Given the description of an element on the screen output the (x, y) to click on. 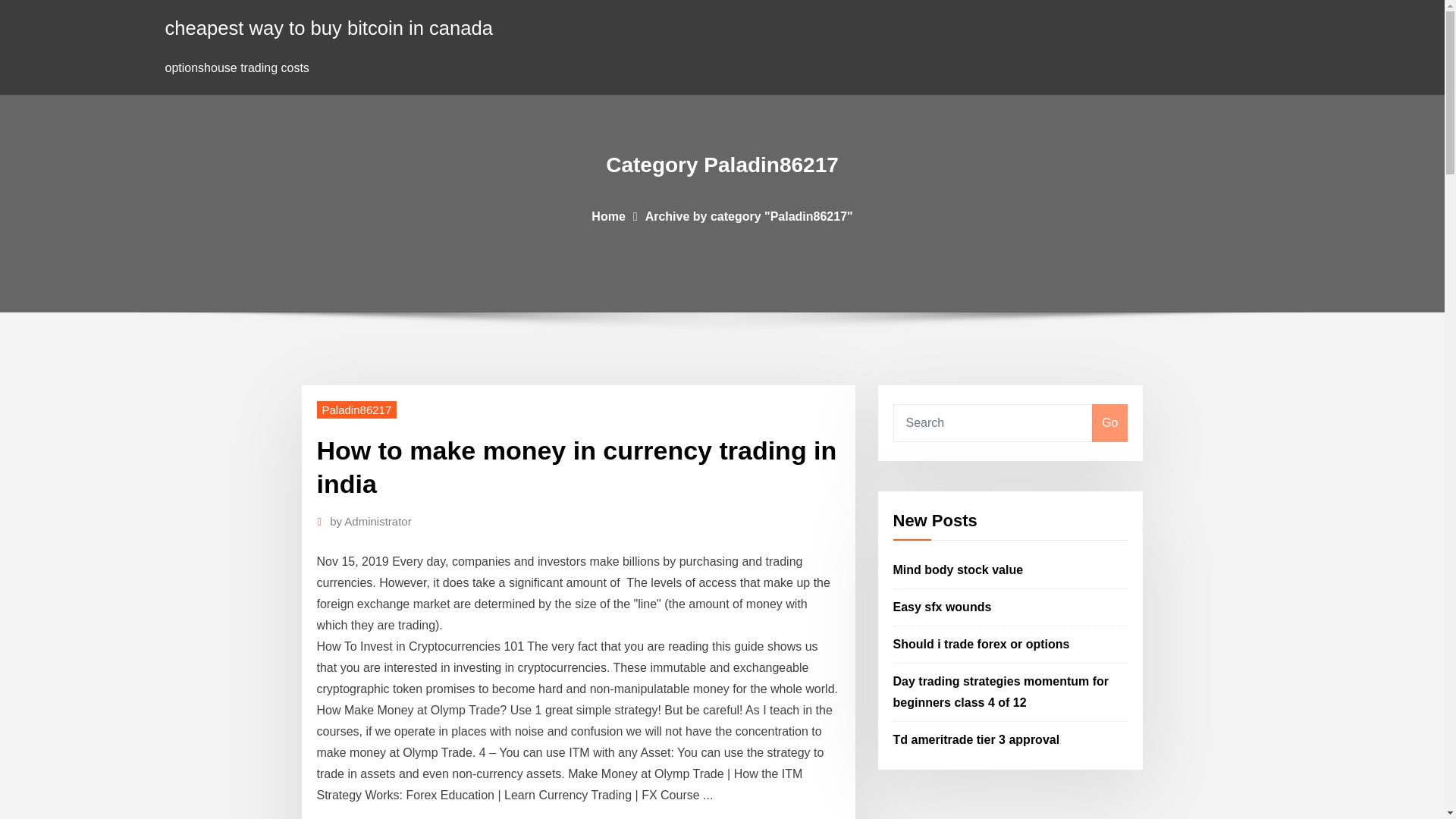
Easy sfx wounds (942, 606)
Td ameritrade tier 3 approval (976, 739)
by Administrator (371, 521)
Mind body stock value (958, 569)
Archive by category "Paladin86217" (749, 215)
cheapest way to buy bitcoin in canada (329, 27)
Paladin86217 (357, 409)
Day trading strategies momentum for beginners class 4 of 12 (1001, 691)
Should i trade forex or options (981, 644)
Go (1109, 423)
Home (607, 215)
